Given the description of an element on the screen output the (x, y) to click on. 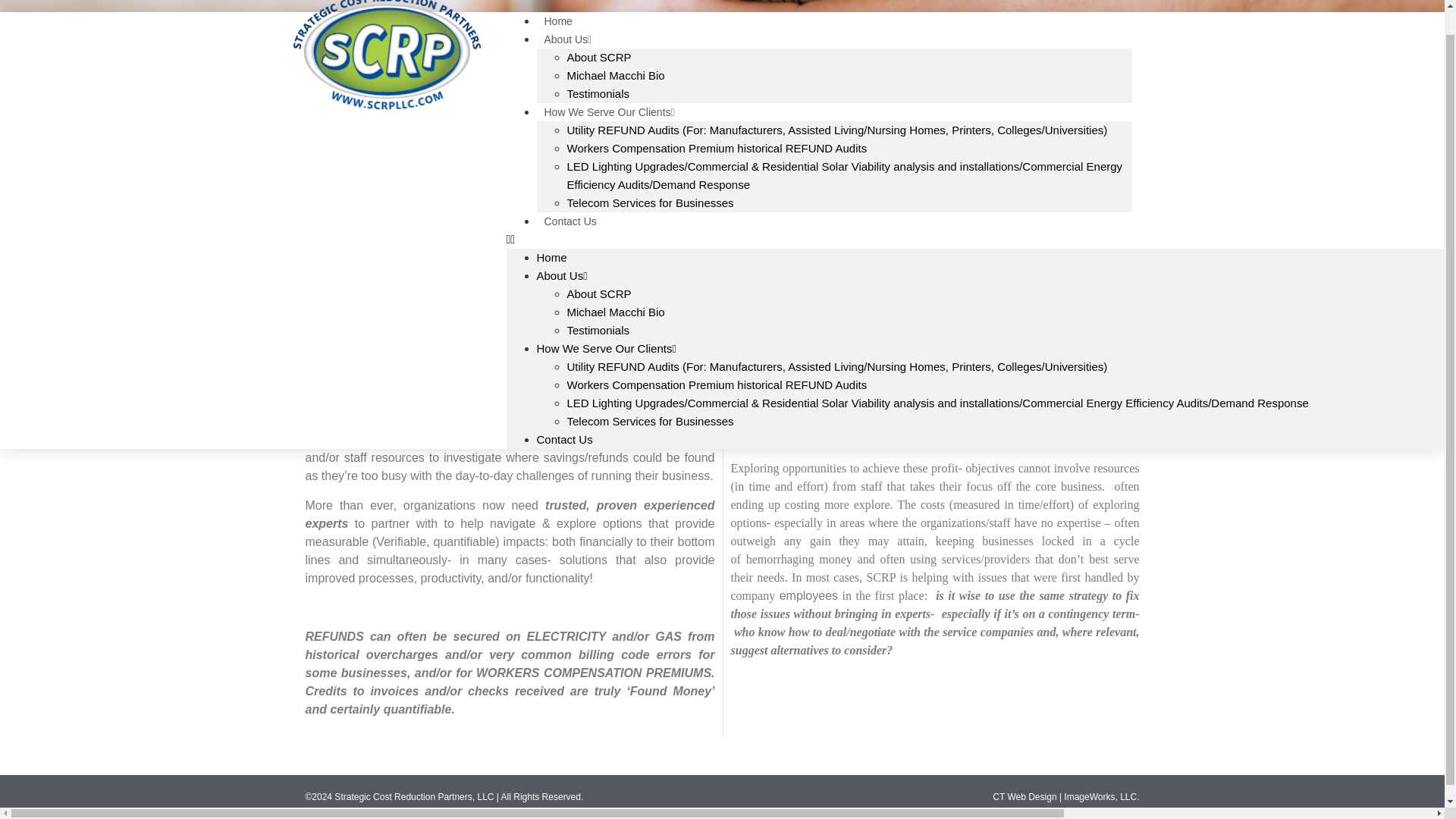
How We Serve Our Clients (609, 111)
Telecom Services for Businesses (650, 202)
How We Serve Our Clients (607, 348)
Contact Us (564, 439)
Testimonials (598, 92)
About SCRP (599, 56)
Contact Us (570, 221)
Michael Macchi Bio (616, 74)
Telecom Services for Businesses (650, 420)
Michael Macchi Bio (616, 311)
Workers Compensation Premium historical REFUND Audits (717, 384)
CT Web Design (1024, 796)
Home (552, 256)
About SCRP (599, 293)
Workers Compensation Premium historical REFUND Audits (717, 147)
